Given the description of an element on the screen output the (x, y) to click on. 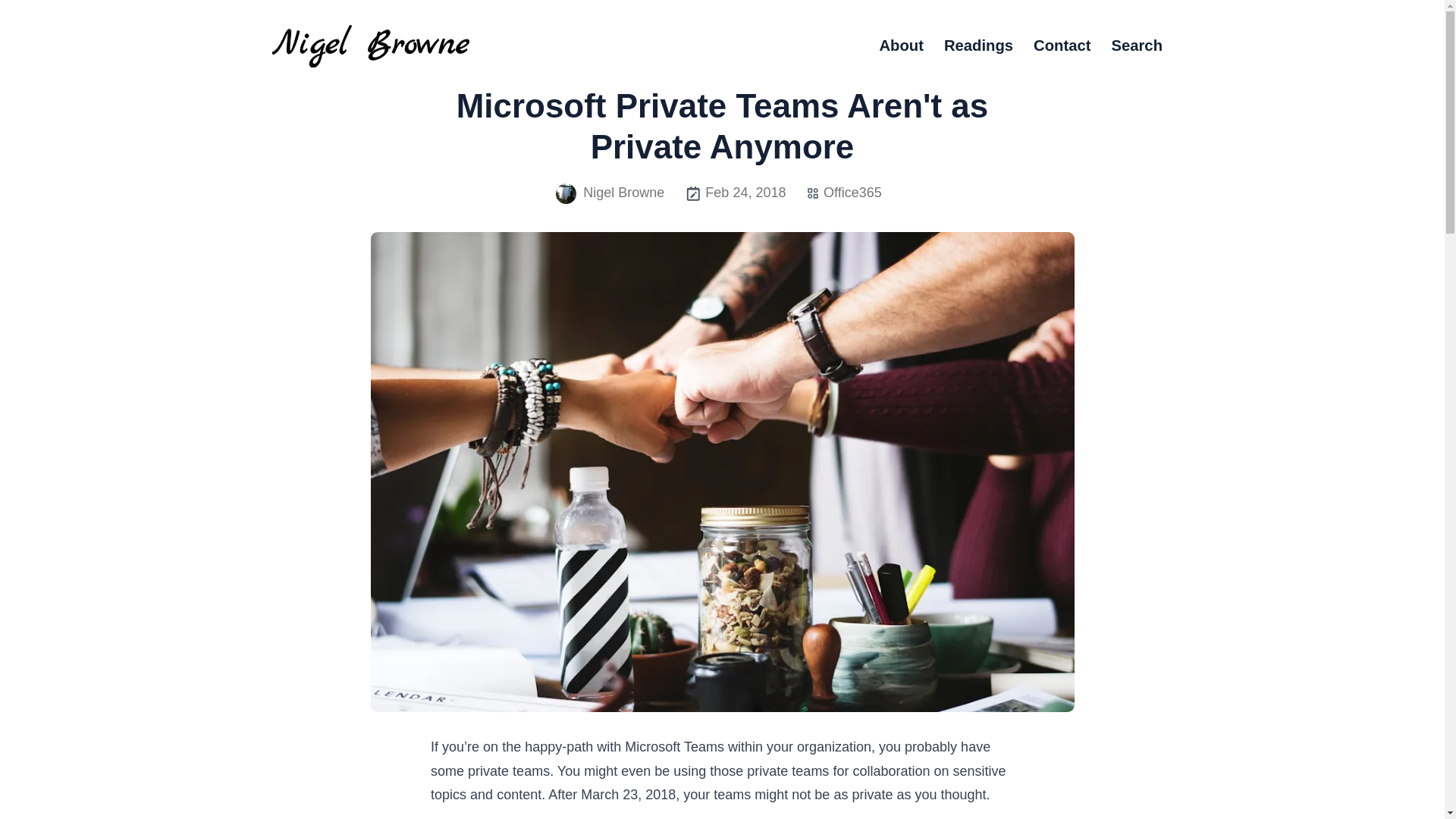
About (901, 46)
Nigel Browne (609, 192)
Contact (1061, 46)
Office365 (853, 192)
Search (1136, 46)
Readings (978, 46)
